Given the description of an element on the screen output the (x, y) to click on. 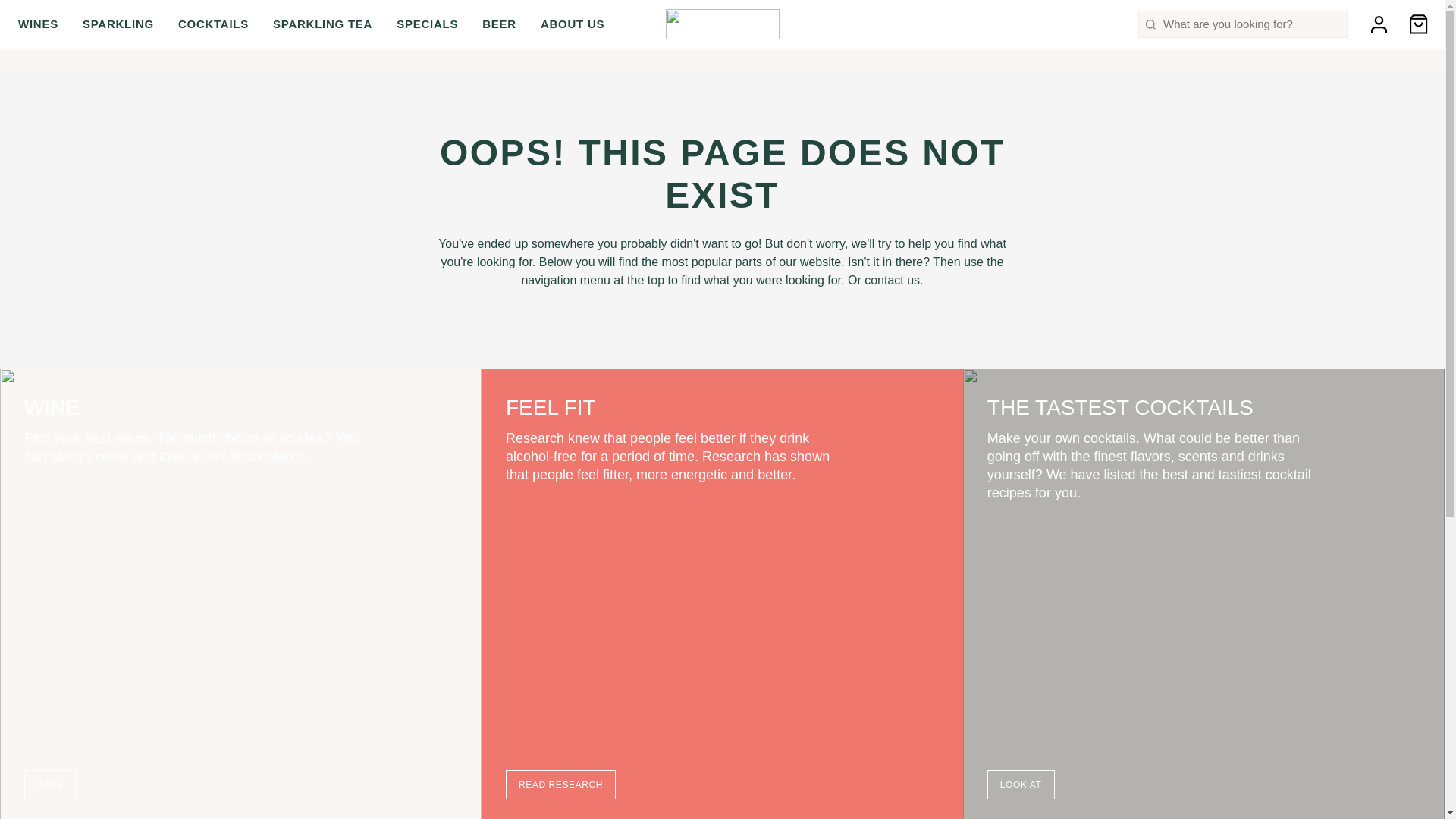
Recipes (1355, 11)
View our cocktail recipes (1355, 11)
WINES (37, 24)
COCKTAILS (212, 24)
Our brands (156, 12)
Recipes (245, 12)
Liquor stores (53, 12)
SPARKLING (118, 24)
Wholesale (332, 12)
